Given the description of an element on the screen output the (x, y) to click on. 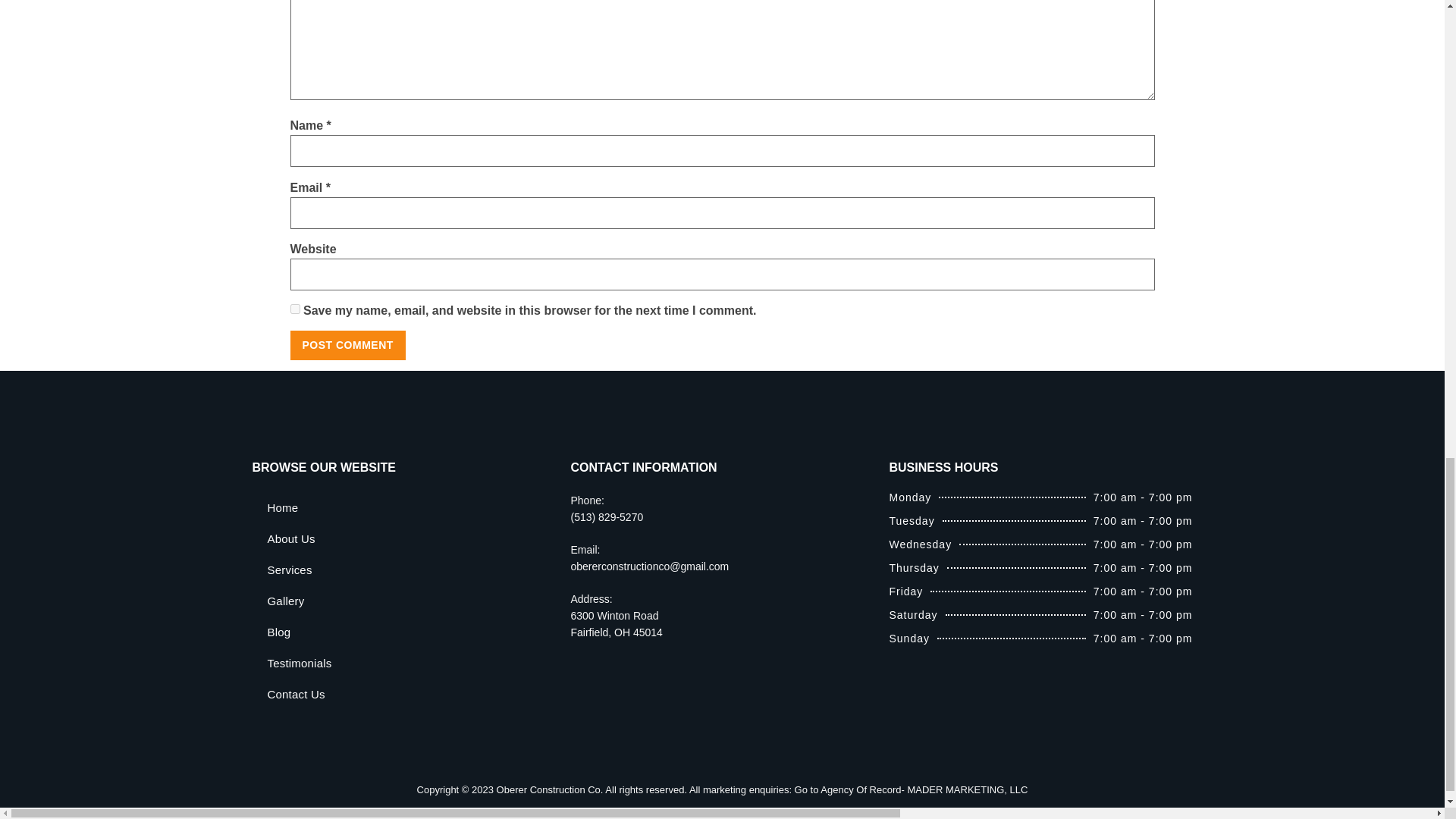
Post Comment (346, 344)
yes (294, 308)
